Given the description of an element on the screen output the (x, y) to click on. 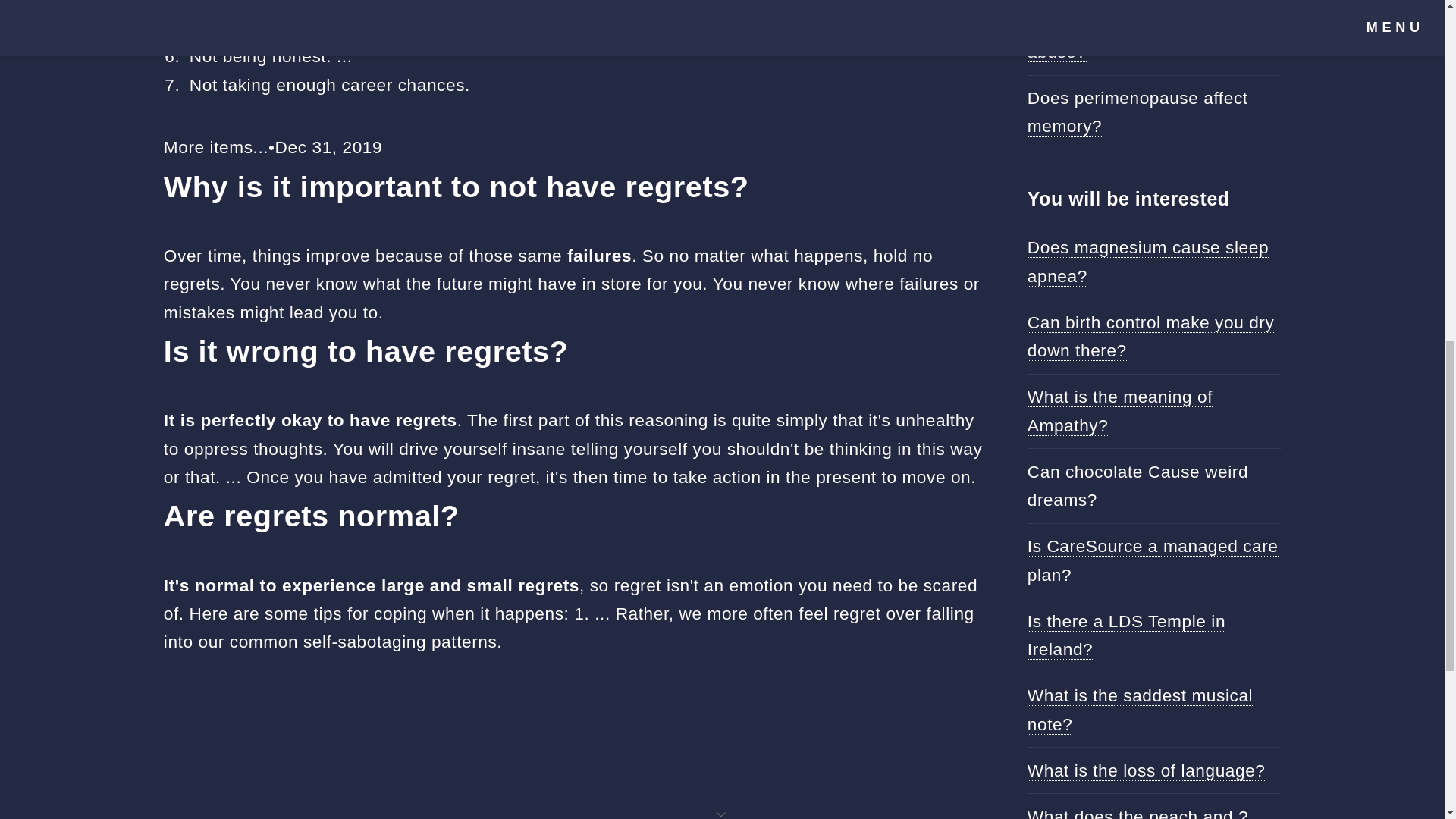
Can birth control make you dry down there? (1151, 336)
What is the meaning of Ampathy? (1119, 410)
Does perimenopause affect memory? (1137, 111)
What is the saddest musical note? (1139, 709)
Does magnesium cause sleep apnea? (1147, 261)
Is CareSource a managed care plan? (1152, 560)
Is there a LDS Temple in Ireland? (1126, 635)
What's considered parental abuse? (1136, 37)
What is the loss of language? (1146, 770)
What does the peach and ? mean? (1137, 812)
